Given the description of an element on the screen output the (x, y) to click on. 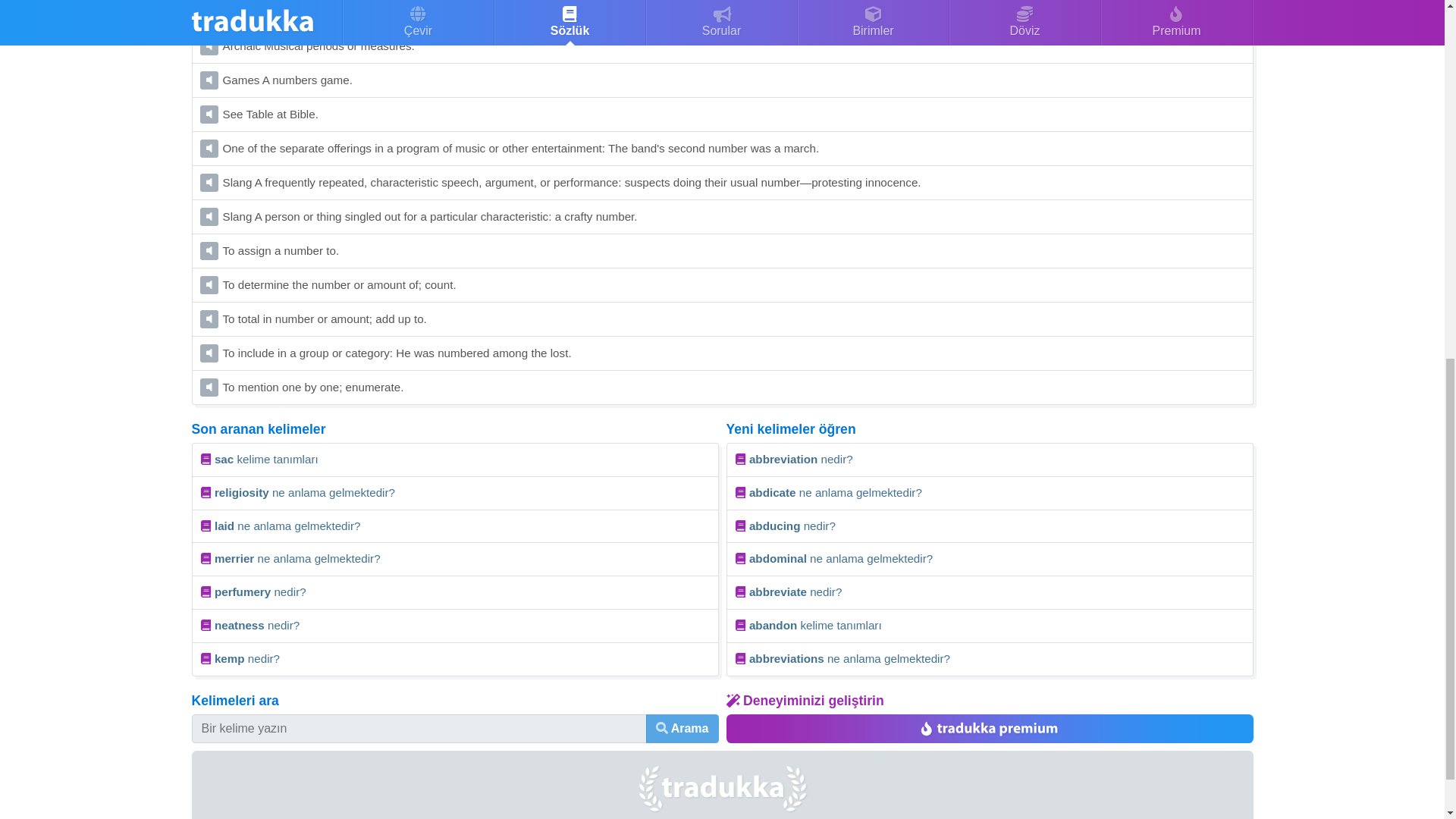
perfumery nedir? (453, 592)
abbreviate nedir? (989, 592)
abdicate ne anlama gelmektedir? (989, 493)
Arama (682, 728)
abbreviation nedir? (989, 459)
kemp nedir? (453, 659)
abbreviations ne anlama gelmektedir? (989, 659)
neatness nedir? (453, 625)
abdominal ne anlama gelmektedir? (989, 559)
abducing nedir? (989, 526)
